Given the description of an element on the screen output the (x, y) to click on. 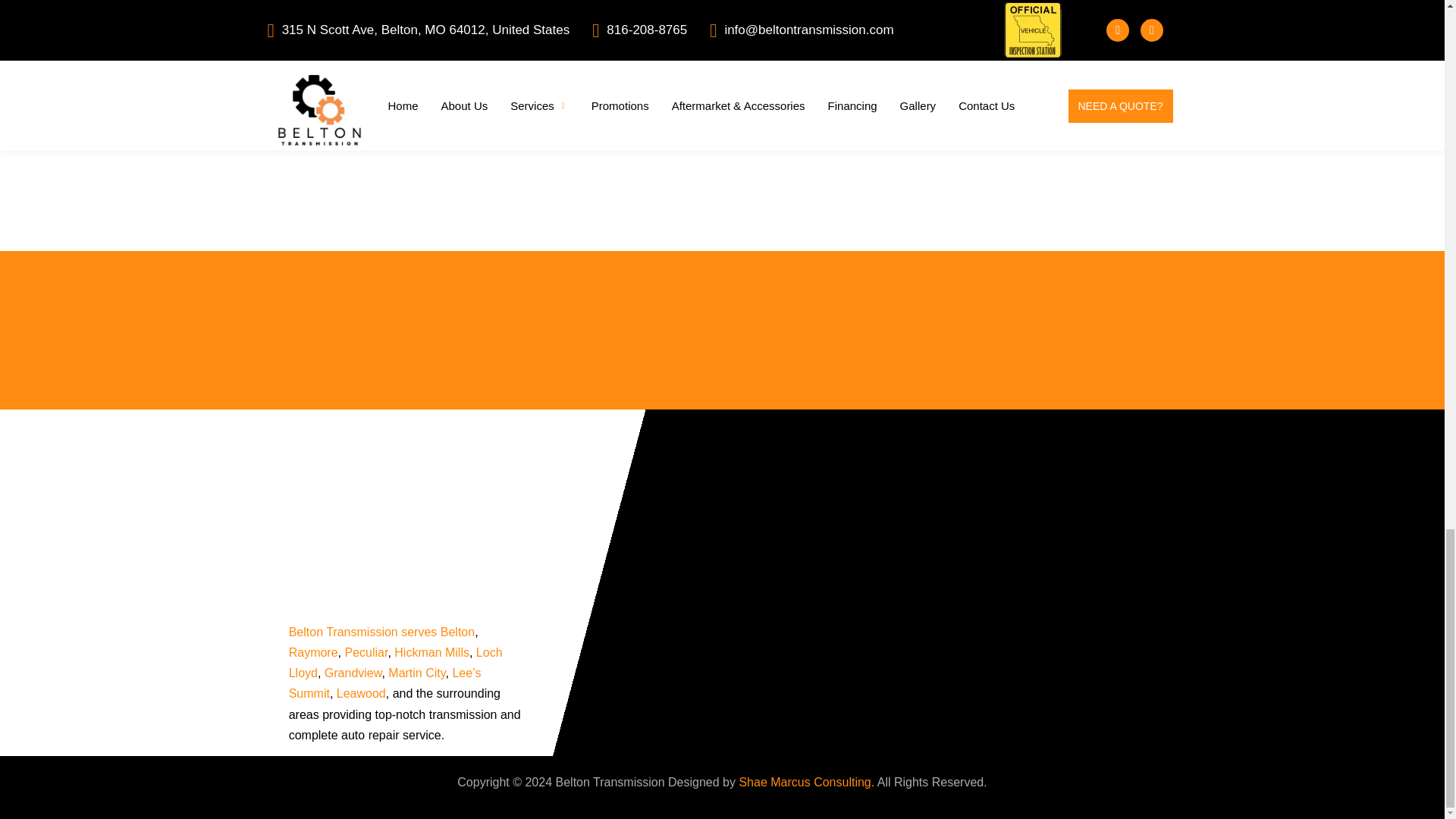
Belton (457, 631)
Peculiar (365, 652)
Belton Transmission serves (363, 631)
Raymore (312, 652)
